Given the description of an element on the screen output the (x, y) to click on. 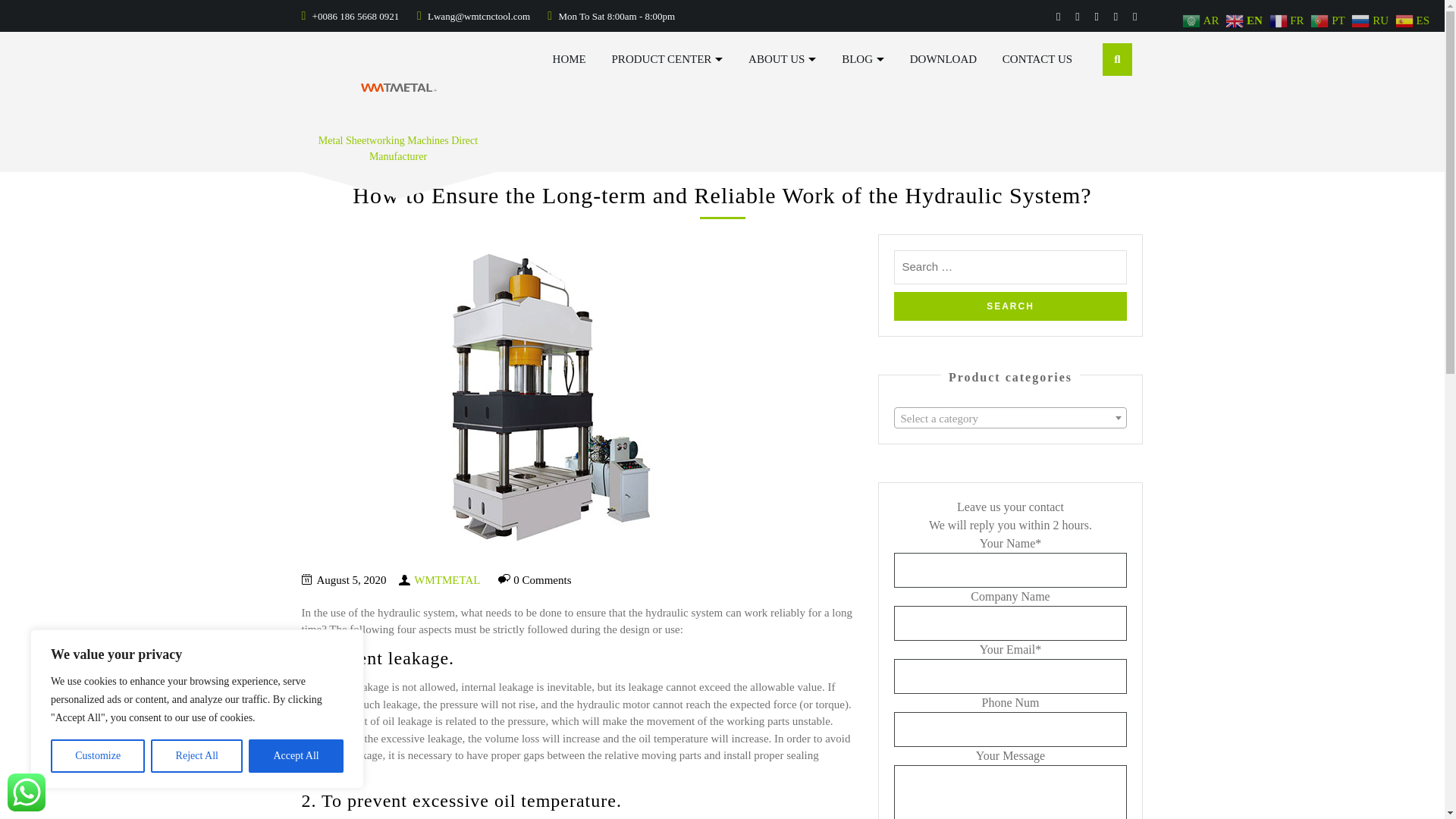
WhatsApp us (26, 792)
ABOUT US (781, 58)
PRODUCT CENTER (667, 58)
Customize (97, 756)
Search (1009, 305)
English (1245, 19)
Search (1009, 305)
HOME (569, 58)
Accept All (295, 756)
Reject All (197, 756)
BLOG (862, 58)
